Given the description of an element on the screen output the (x, y) to click on. 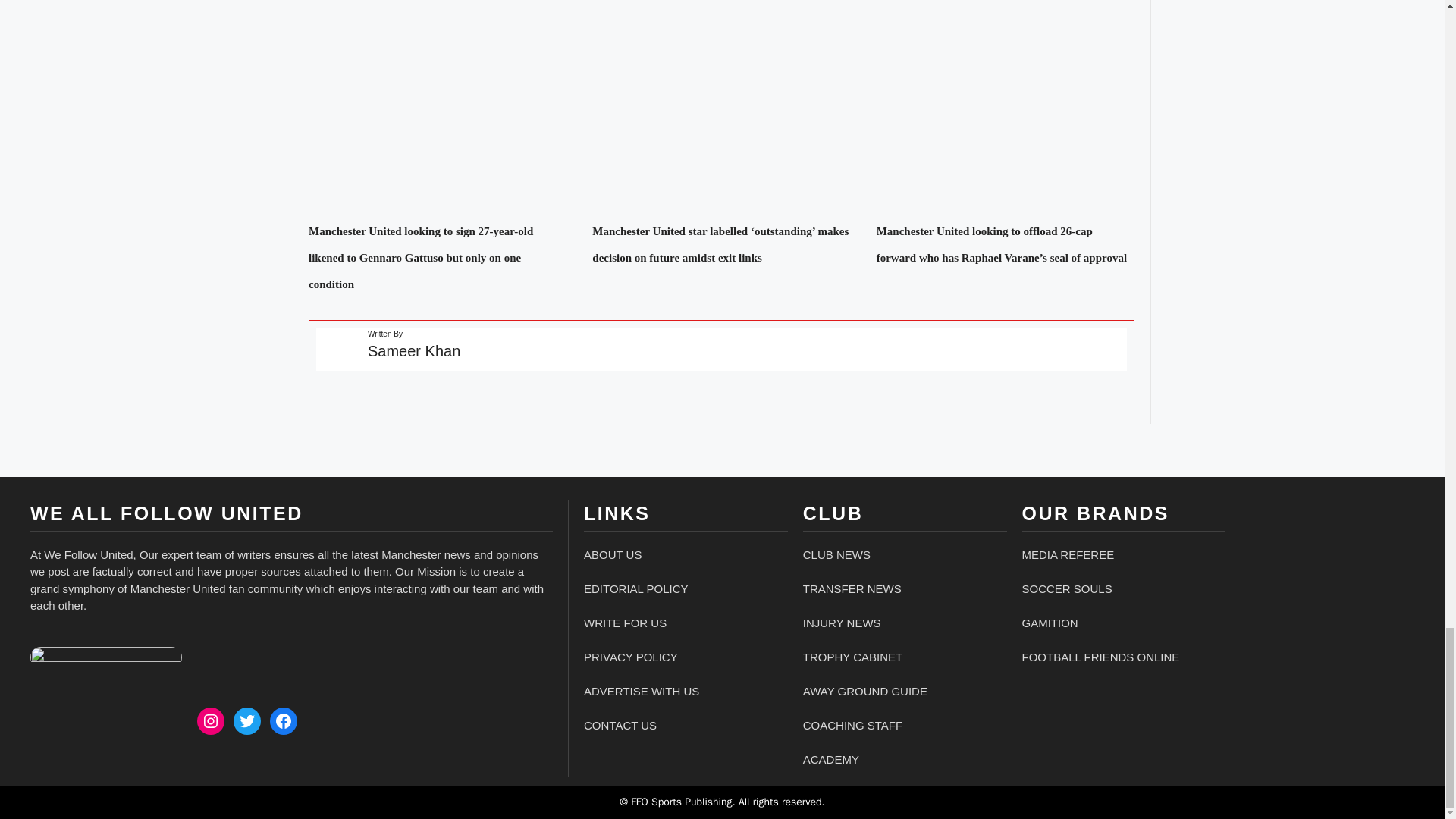
photo1715849582-1 (106, 657)
